Given the description of an element on the screen output the (x, y) to click on. 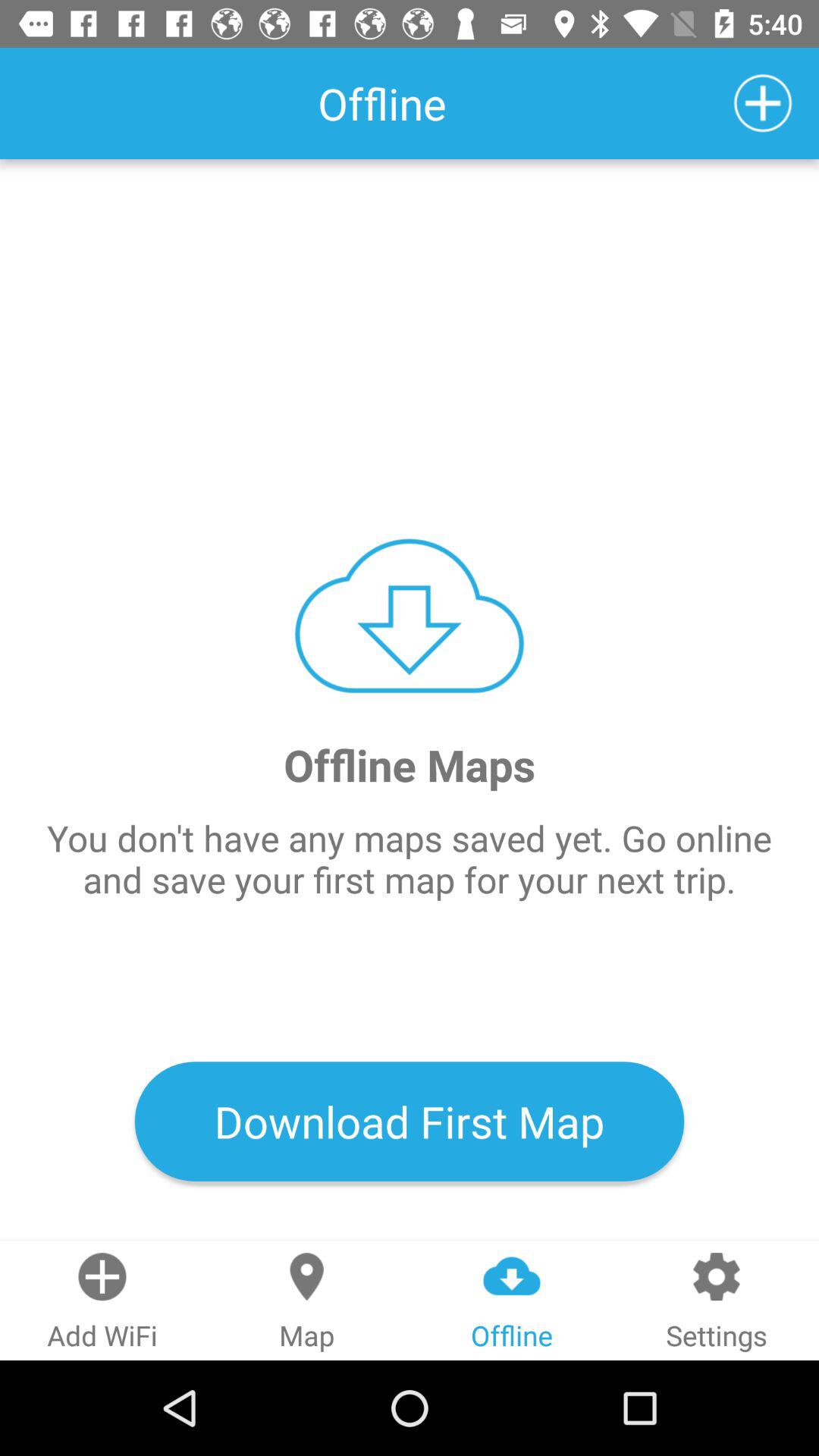
launch item to the right of the offline (762, 103)
